Given the description of an element on the screen output the (x, y) to click on. 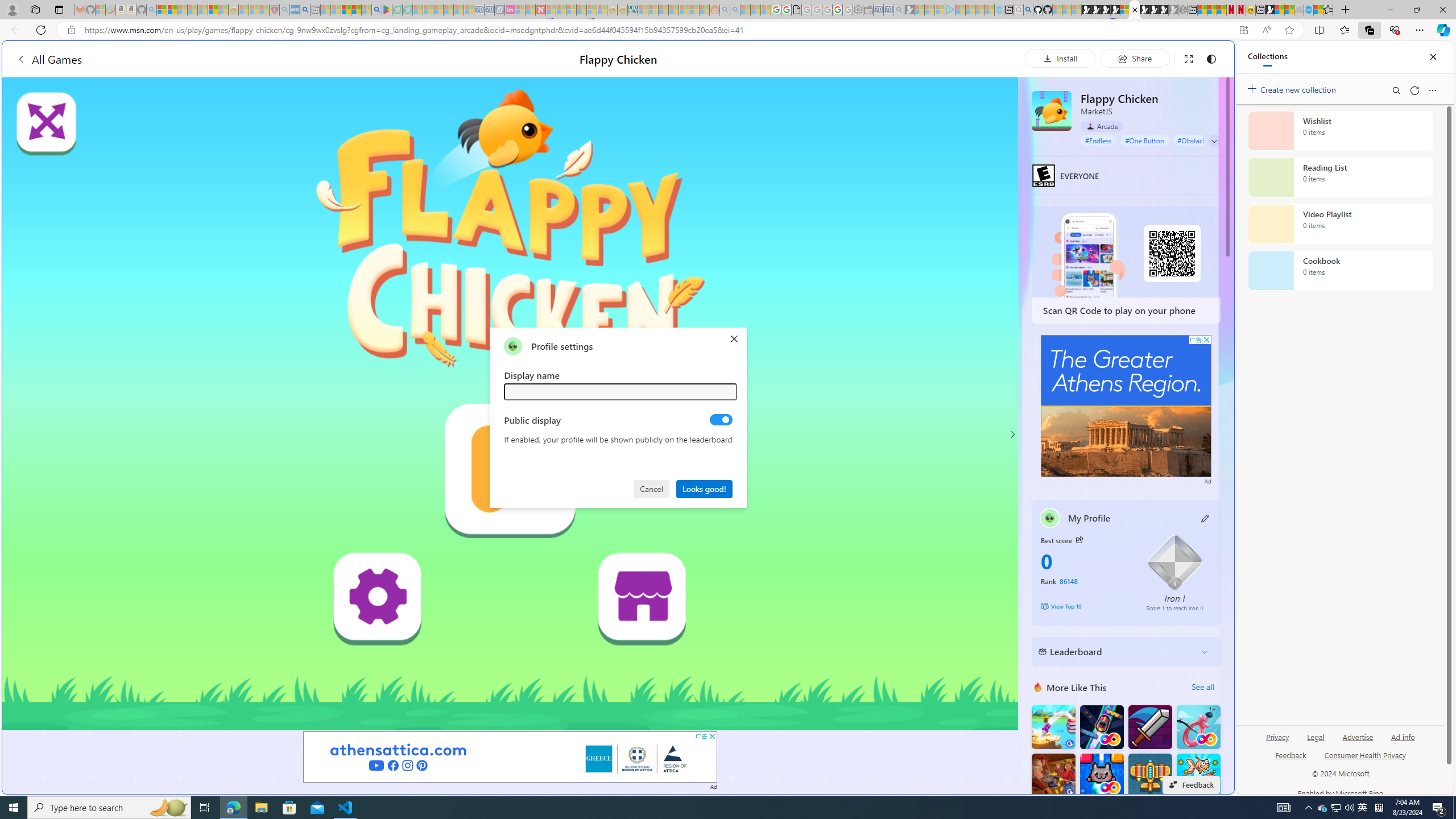
Kitten Force FRVR (1101, 775)
Leaderboard (1116, 651)
Advertisement (1126, 405)
All Games (216, 58)
Looks good! (703, 488)
Fish Merge FRVR (1198, 775)
AutomationID: cbb (1206, 339)
